Given the description of an element on the screen output the (x, y) to click on. 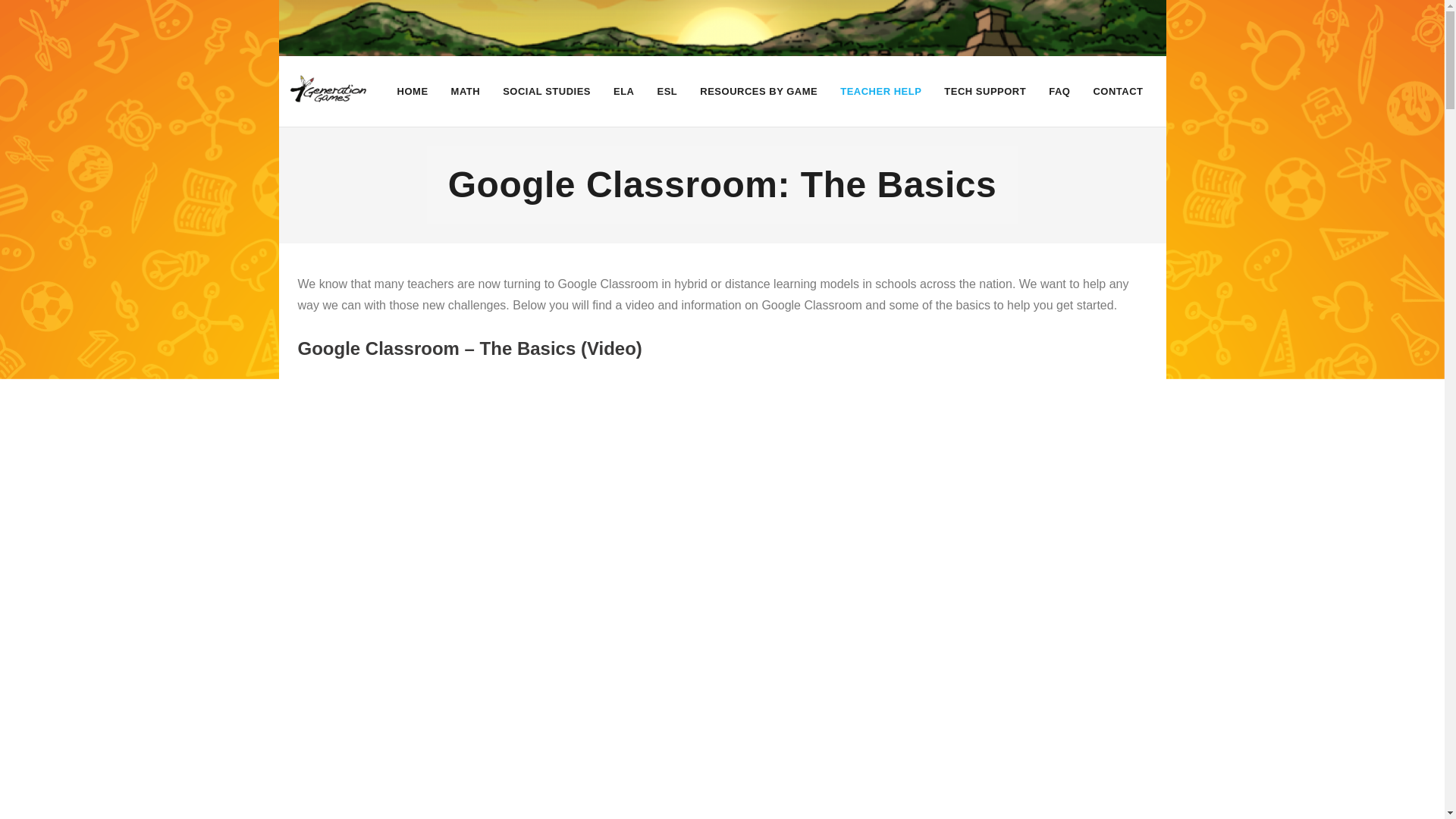
TECH SUPPORT (984, 91)
TEACHER HELP (880, 91)
SOCIAL STUDIES (547, 91)
RESOURCES BY GAME (758, 91)
CONTACT (1117, 91)
